Given the description of an element on the screen output the (x, y) to click on. 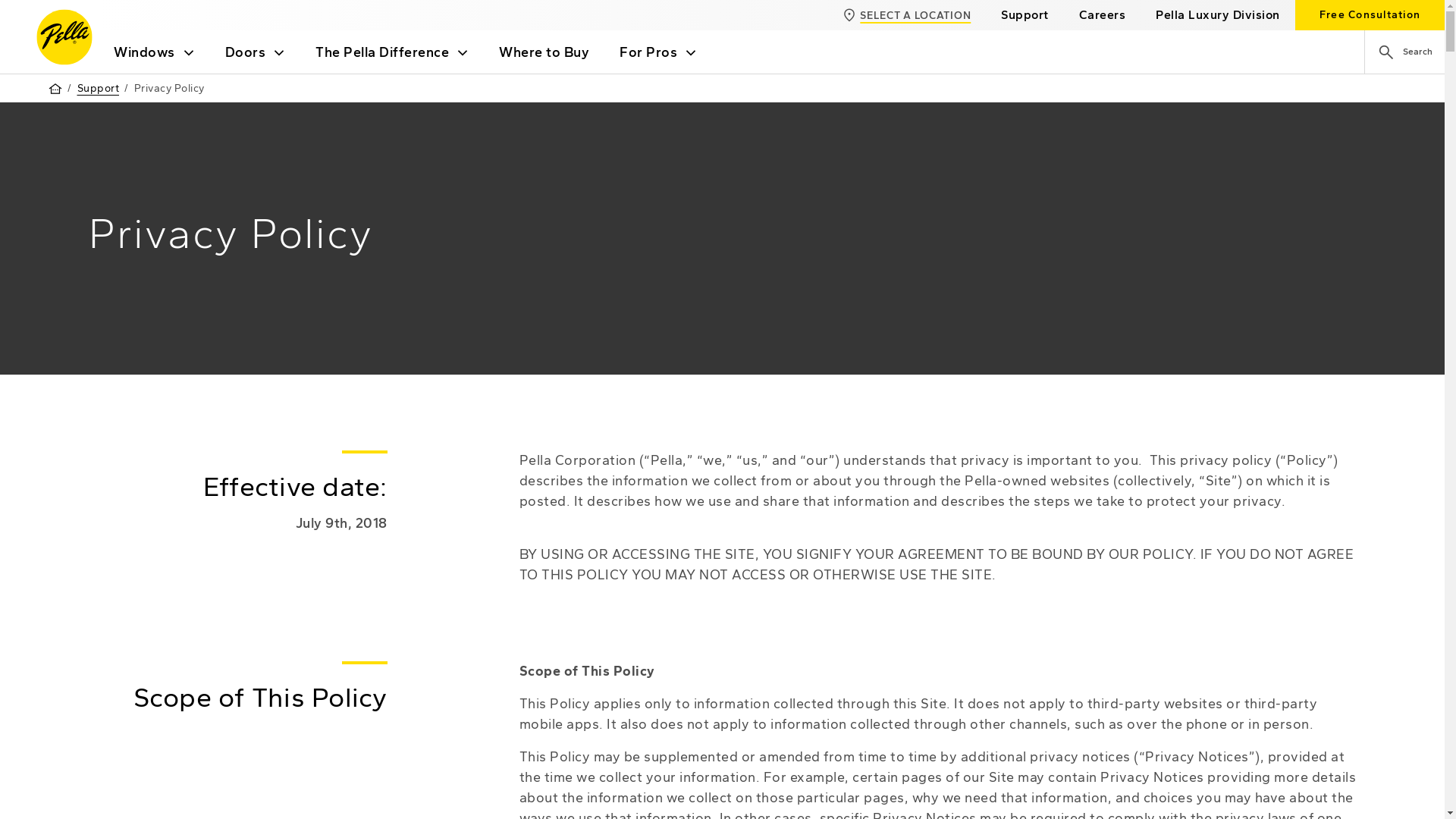
Careers Element type: text (1102, 14)
Link to Pella.com homepage Element type: hover (64, 37)
Doors
keyboard_arrow_down Element type: text (254, 51)
Support Element type: text (98, 87)
Pella Luxury Division Element type: text (1217, 14)
Support Element type: text (1024, 14)
Where to Buy Element type: text (543, 51)
For Pros
keyboard_arrow_down Element type: text (658, 51)
location_on
SELECT A LOCATION Element type: text (905, 15)
Windows
keyboard_arrow_down Element type: text (154, 51)
The Pella Difference
keyboard_arrow_down Element type: text (391, 51)
search
Search Element type: text (1404, 51)
Free Consultation Element type: text (1369, 15)
other_houses
Home Element type: text (55, 88)
